Given the description of an element on the screen output the (x, y) to click on. 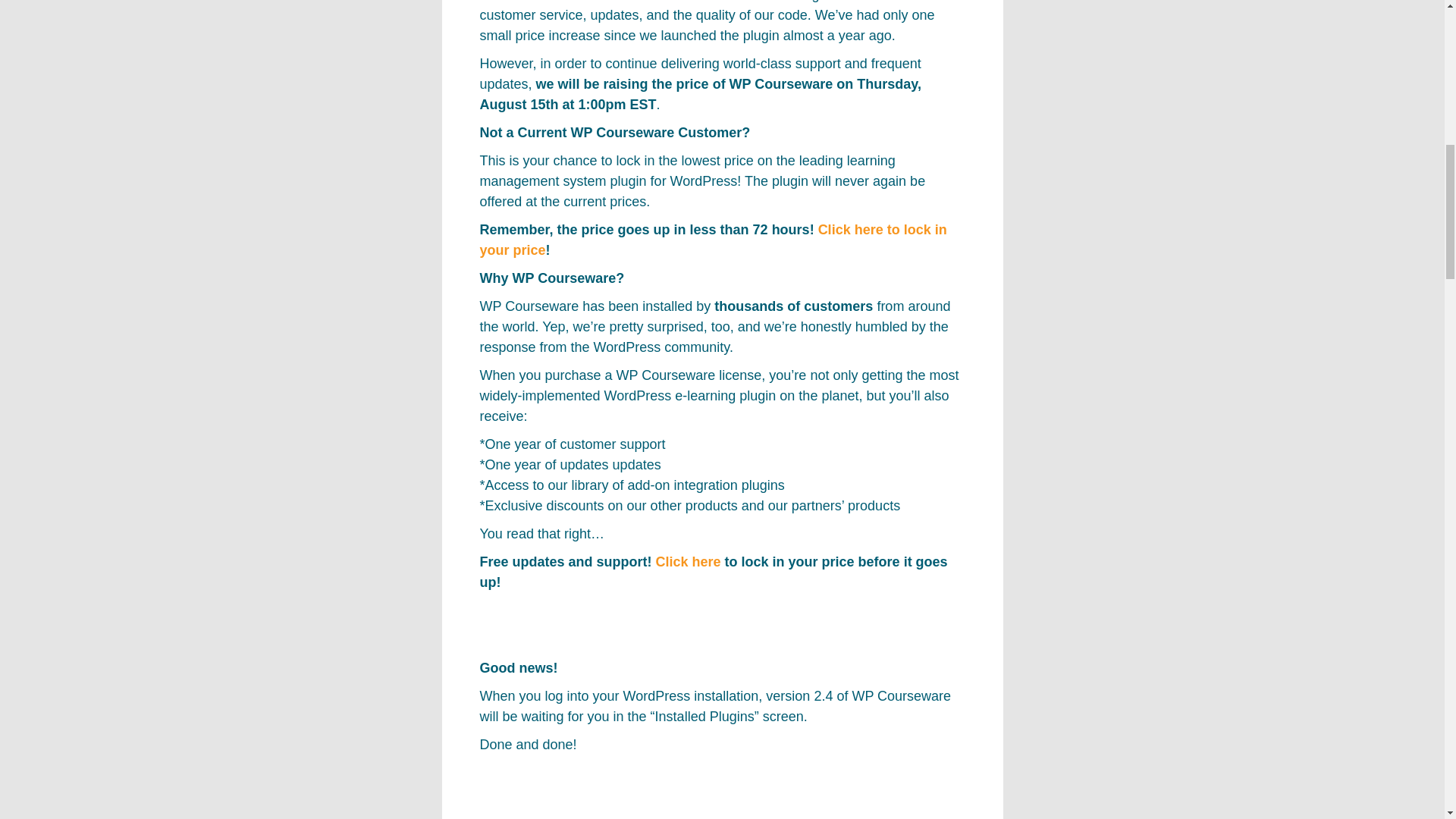
Click here (688, 561)
Click here to lock in your price (712, 239)
